Given the description of an element on the screen output the (x, y) to click on. 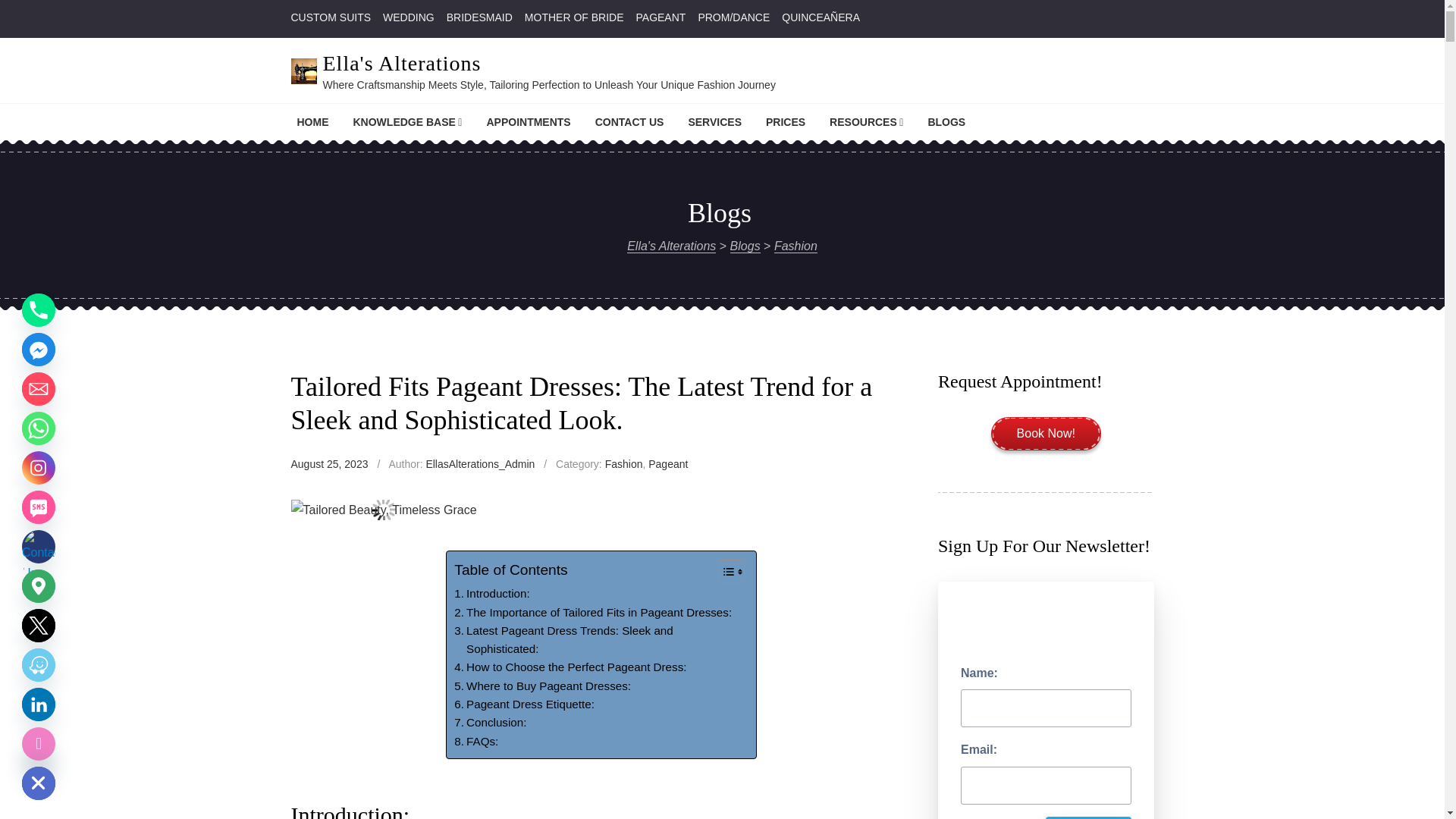
PAGEANT (659, 17)
Pageant Dress Etiquette: (524, 704)
WEDDING (407, 17)
FAQs: (475, 741)
BRIDESMAID (479, 17)
Ella's Alterations (402, 63)
Conclusion: (489, 722)
How to Choose the Perfect Pageant Dress: (569, 667)
The Importance of Tailored Fits in Pageant Dresses: (593, 612)
Introduction: (491, 593)
